Given the description of an element on the screen output the (x, y) to click on. 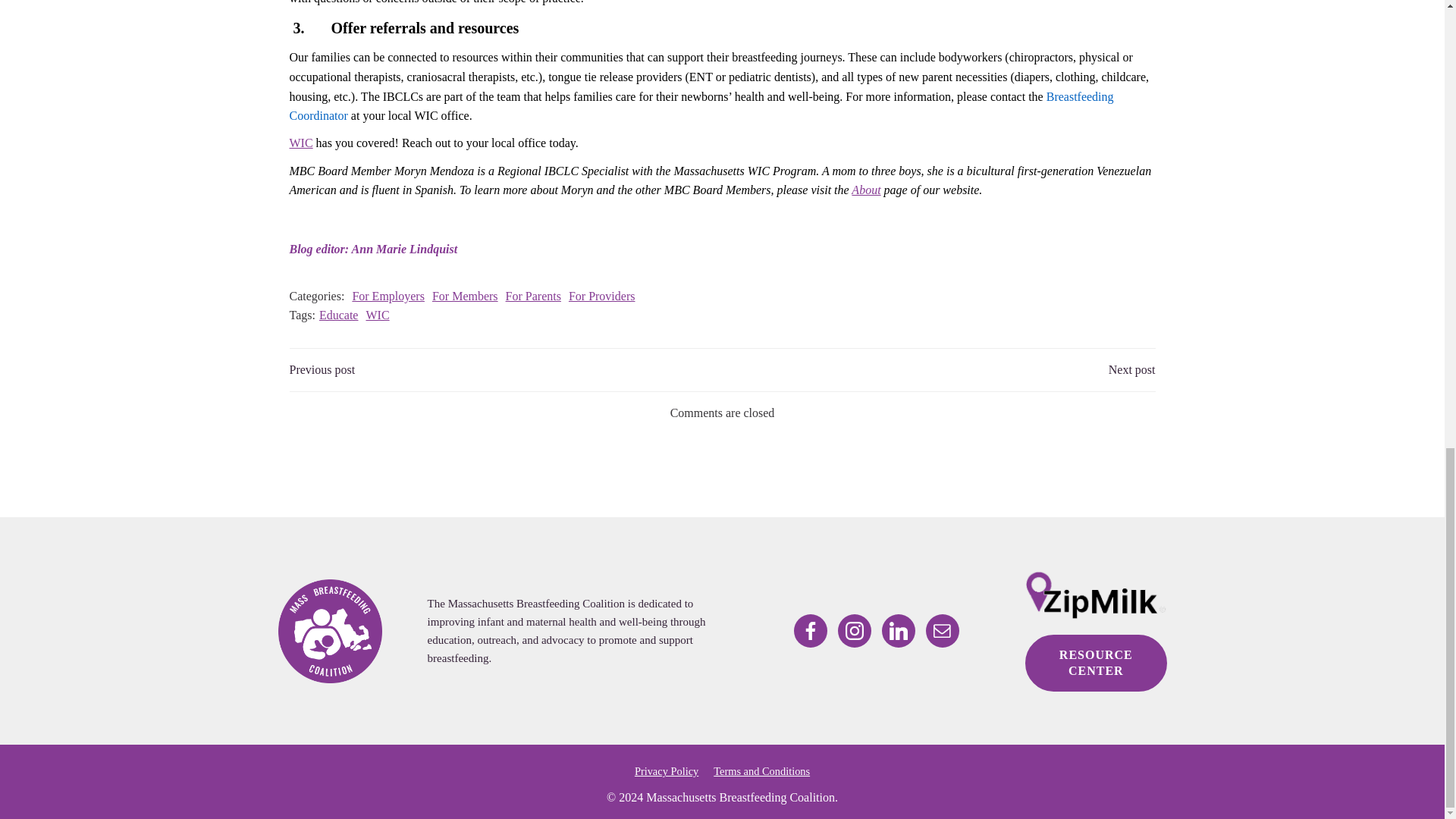
WIC Tag (376, 315)
Instagram (854, 630)
LinkedIn (898, 630)
educate Tag (338, 315)
Facebook (810, 630)
Email MBC (942, 630)
